Given the description of an element on the screen output the (x, y) to click on. 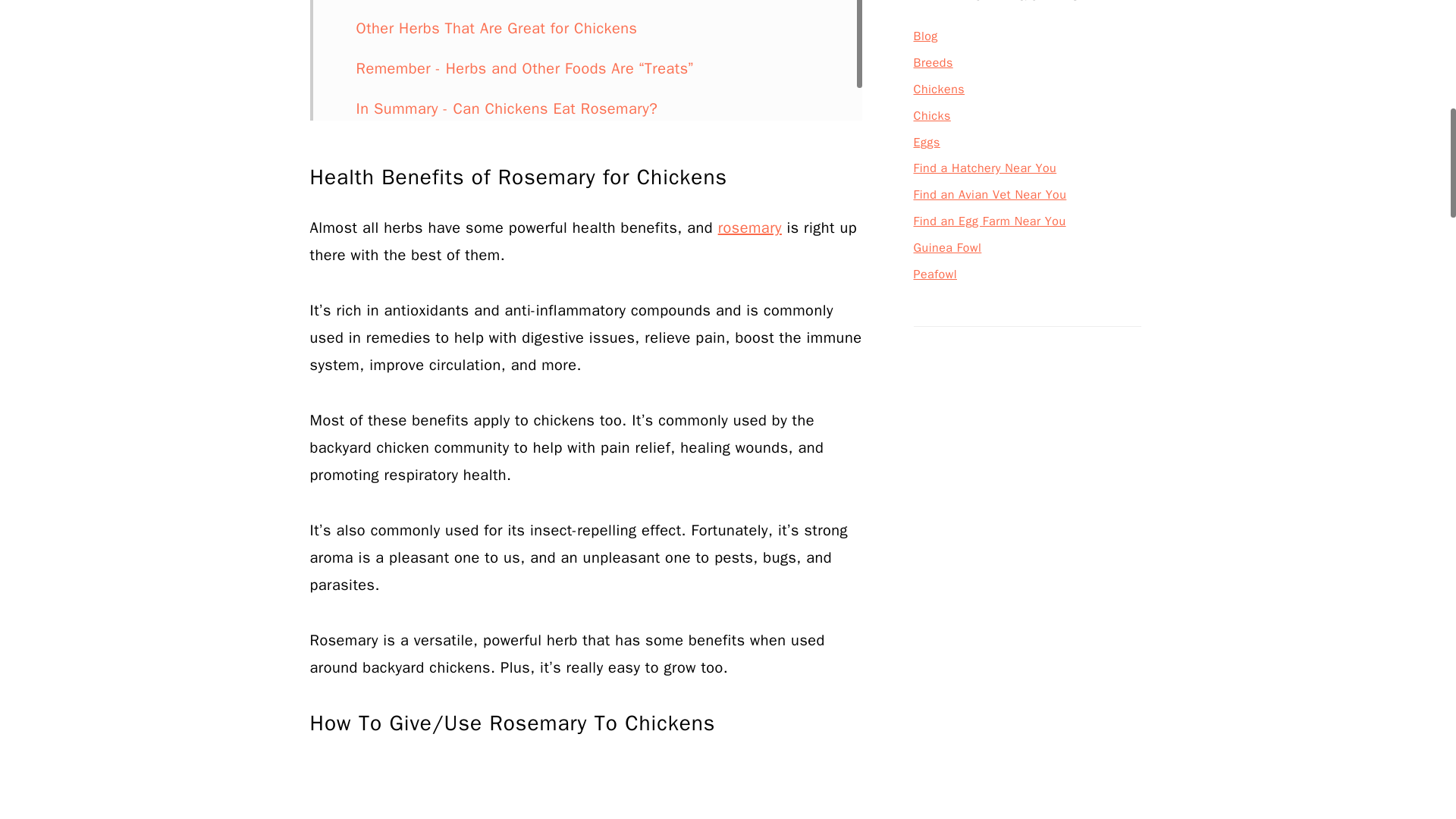
Other Herbs That Are Great for Chickens (496, 27)
rosemary (749, 227)
In Summary - Can Chickens Eat Rosemary? (507, 108)
